Given the description of an element on the screen output the (x, y) to click on. 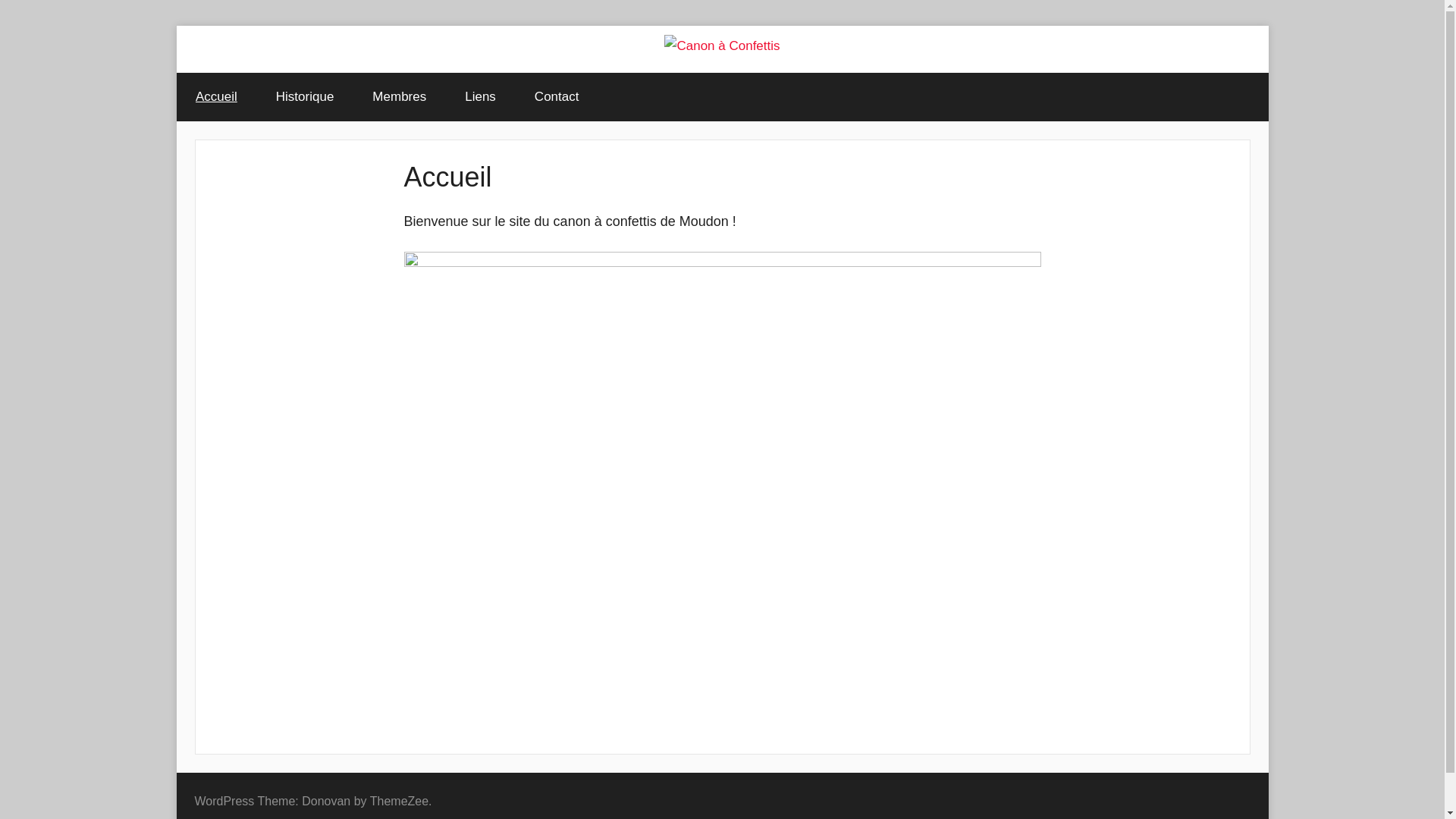
Contact Element type: text (556, 96)
Aller au contenu Element type: text (175, 25)
Accueil Element type: text (215, 96)
Membres Element type: text (399, 96)
Liens Element type: text (480, 96)
Historique Element type: text (304, 96)
